Given the description of an element on the screen output the (x, y) to click on. 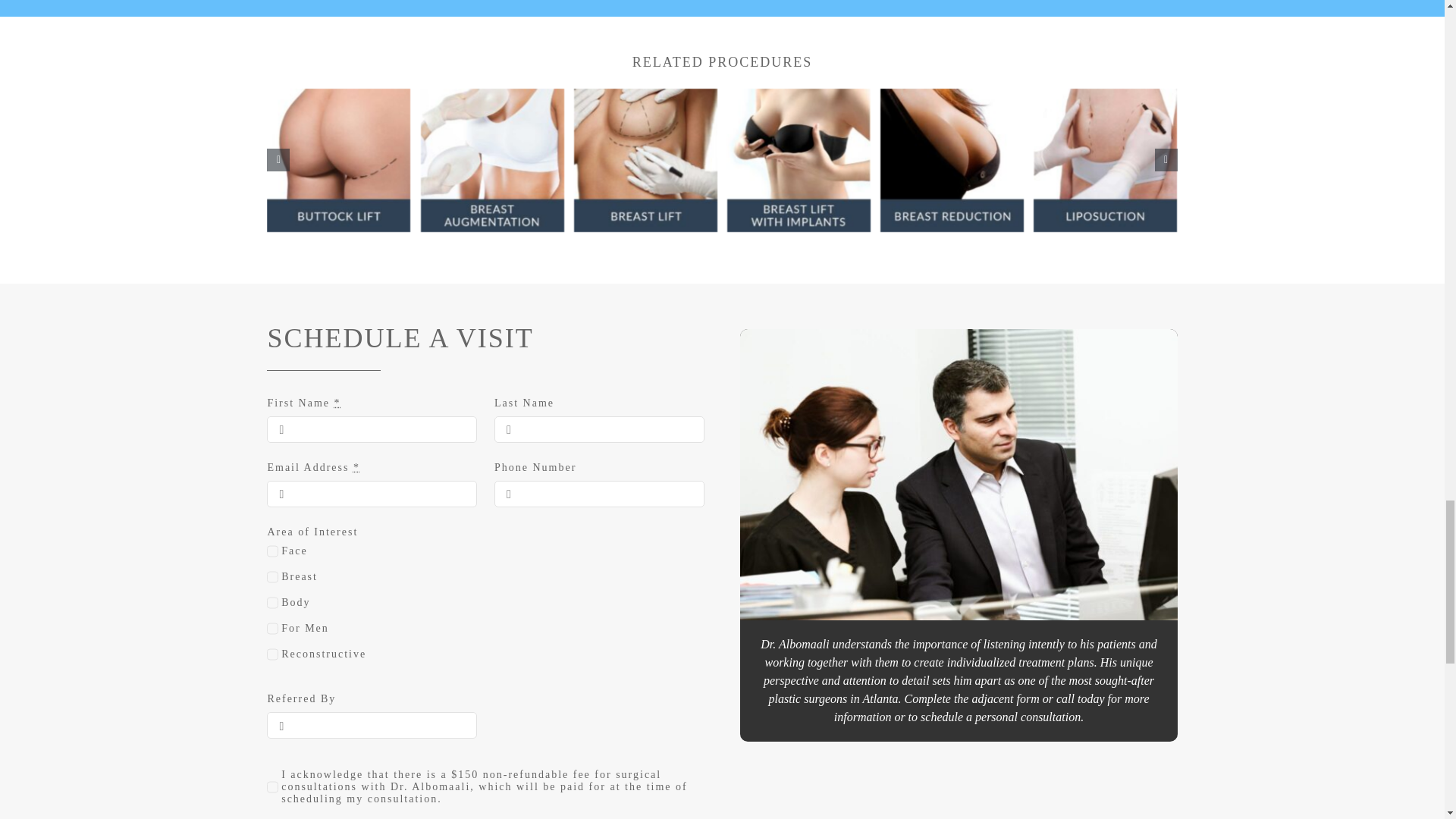
kamran-albomaali-md-with-assistant (957, 474)
